Given the description of an element on the screen output the (x, y) to click on. 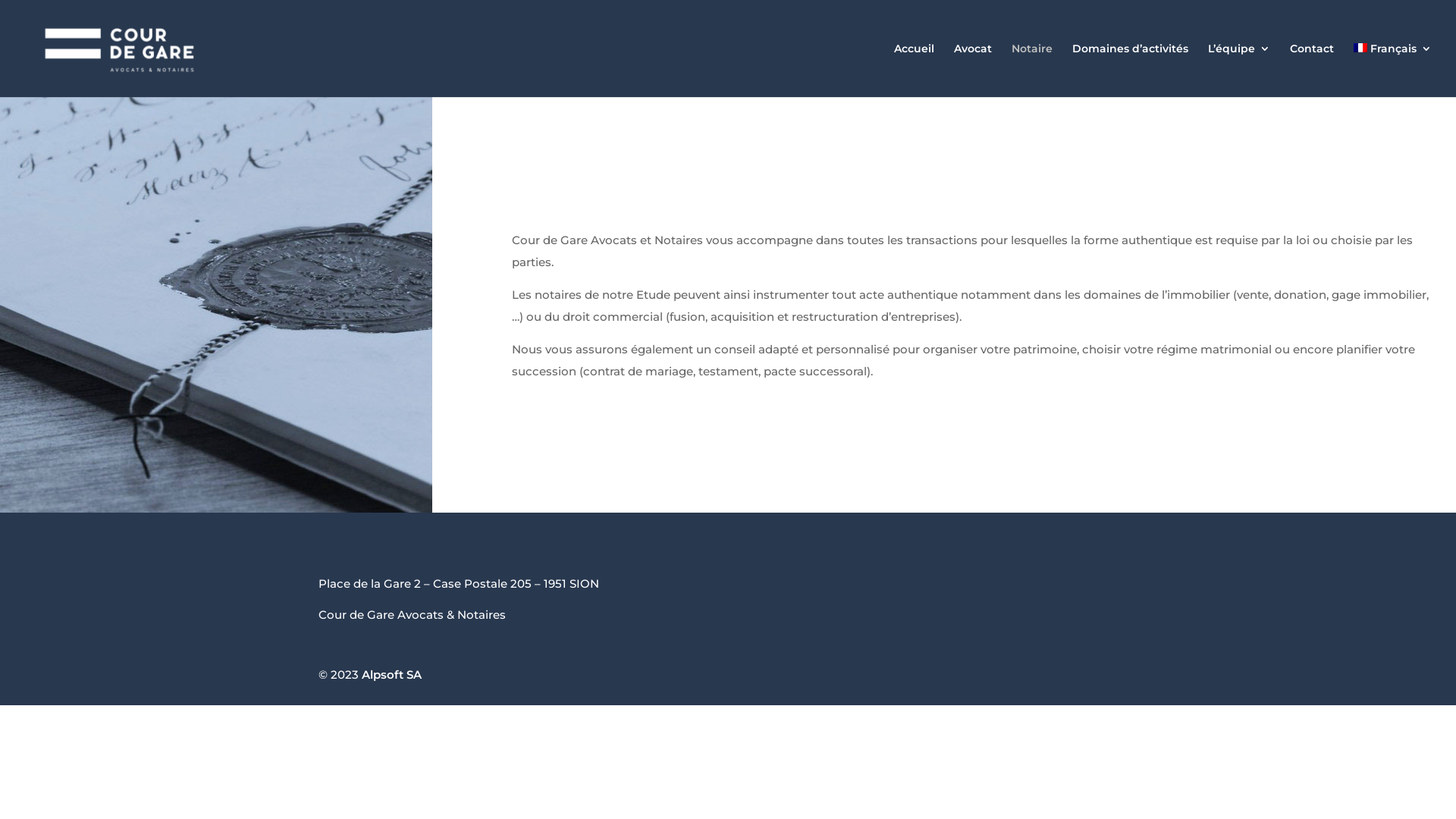
Notaire Element type: text (1031, 70)
Contact Element type: text (1311, 70)
Avocat Element type: text (972, 70)
Accueil Element type: text (914, 70)
Alpsoft SA Element type: text (391, 674)
